Given the description of an element on the screen output the (x, y) to click on. 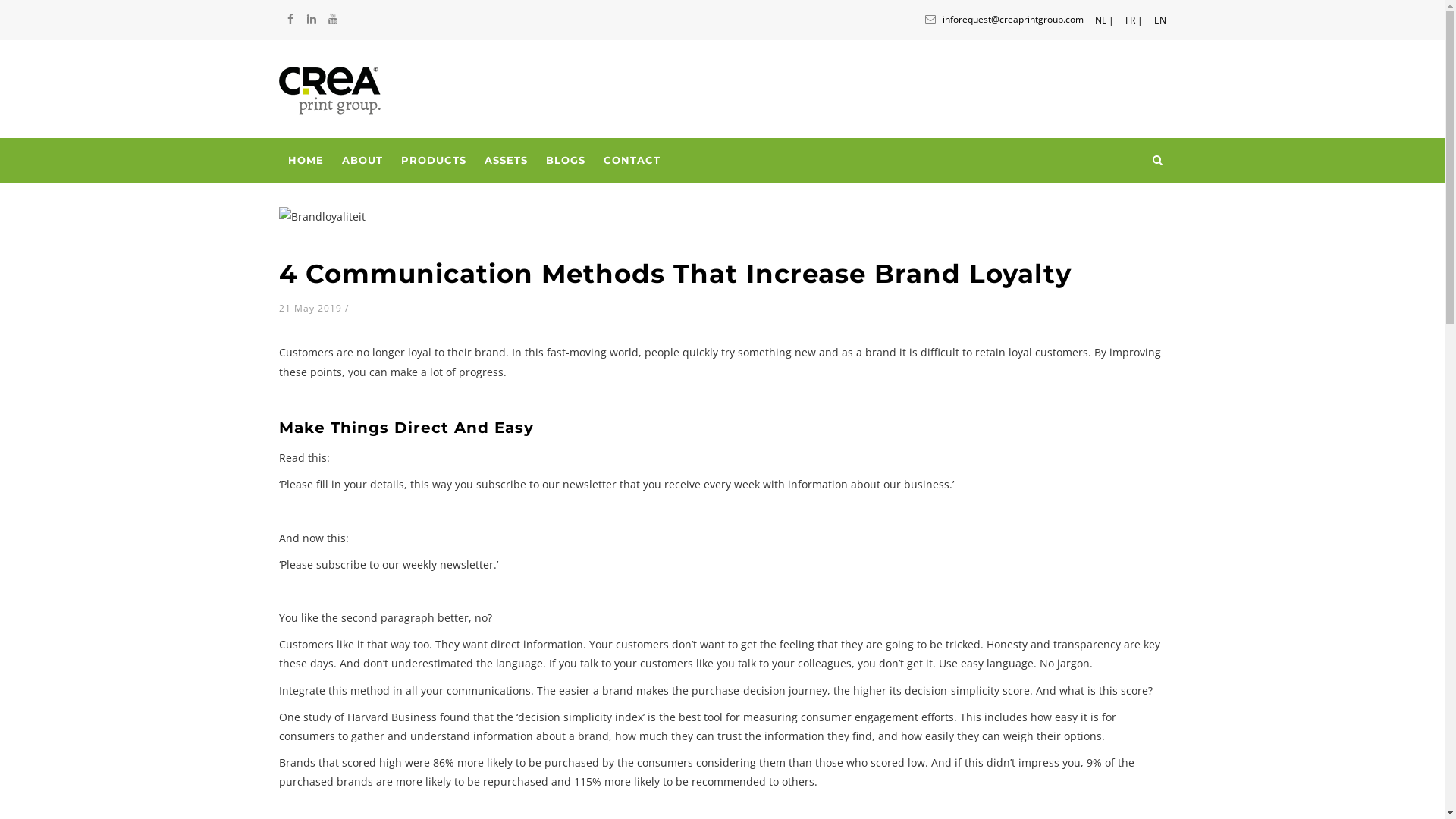
Privacy Statement Element type: text (324, 723)
inforequest@creaprintgroup.com Element type: text (374, 671)
EN Element type: text (1160, 17)
CONTACT Element type: text (631, 160)
BLOGS Element type: text (565, 160)
DIGITAL PARTNER Element type: text (689, 794)
ABOUT Element type: text (361, 160)
NL | Element type: text (1104, 17)
Home Element type: hover (330, 88)
ASSETS Element type: text (505, 160)
Verkoopvoorwaarden Element type: text (332, 702)
PRODUCTS Element type: text (432, 160)
Skip to main content Element type: text (0, 0)
FR | Element type: text (1133, 17)
HOME Element type: text (305, 160)
inforequest@creaprintgroup.com Element type: text (1002, 18)
